Given the description of an element on the screen output the (x, y) to click on. 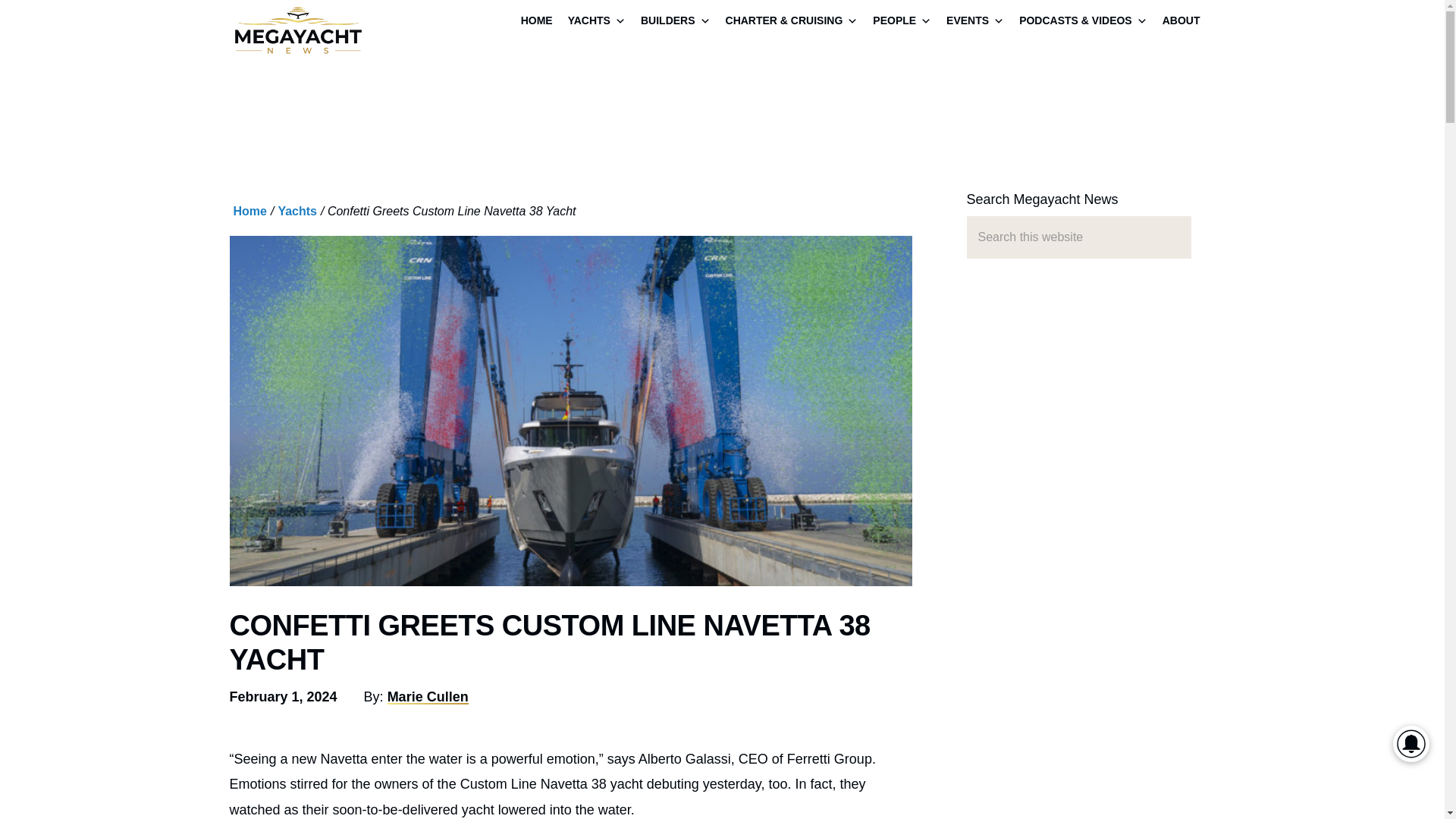
HOME (536, 22)
3rd party ad content (1078, 432)
YACHTS (596, 22)
3rd party ad content (1078, 692)
3rd party ad content (569, 132)
